Given the description of an element on the screen output the (x, y) to click on. 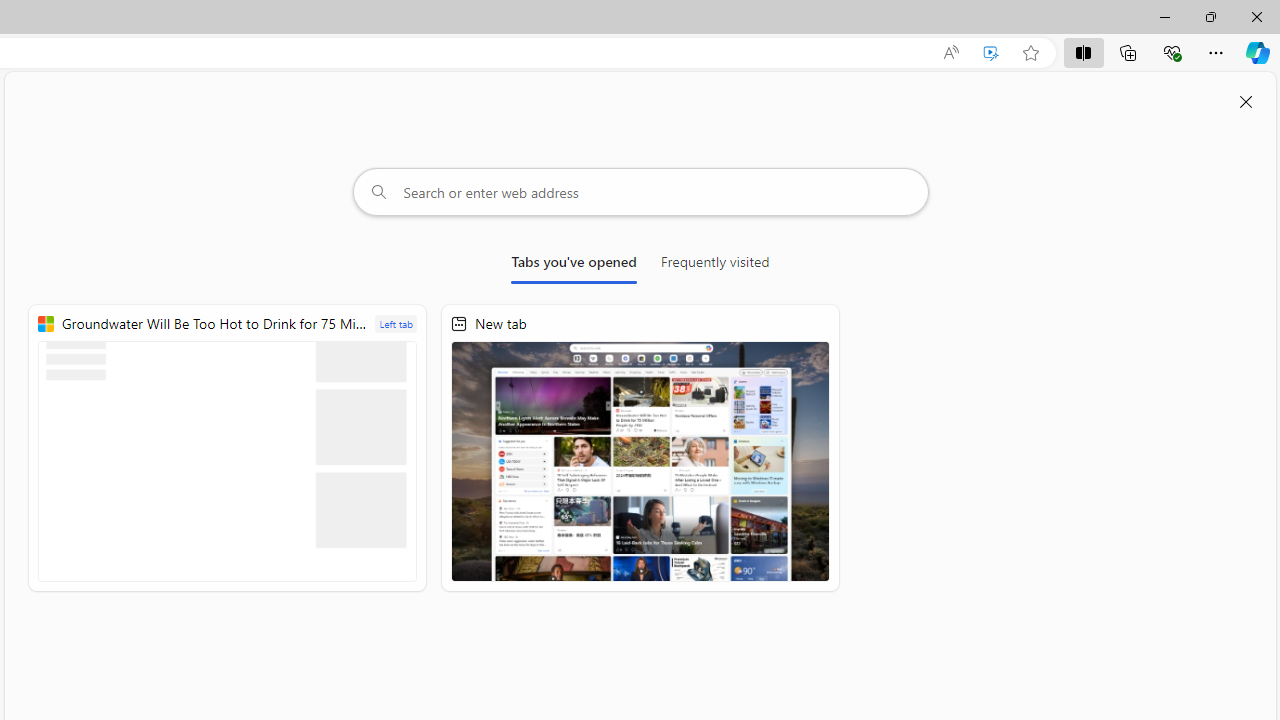
Enhance video (991, 53)
